Given the description of an element on the screen output the (x, y) to click on. 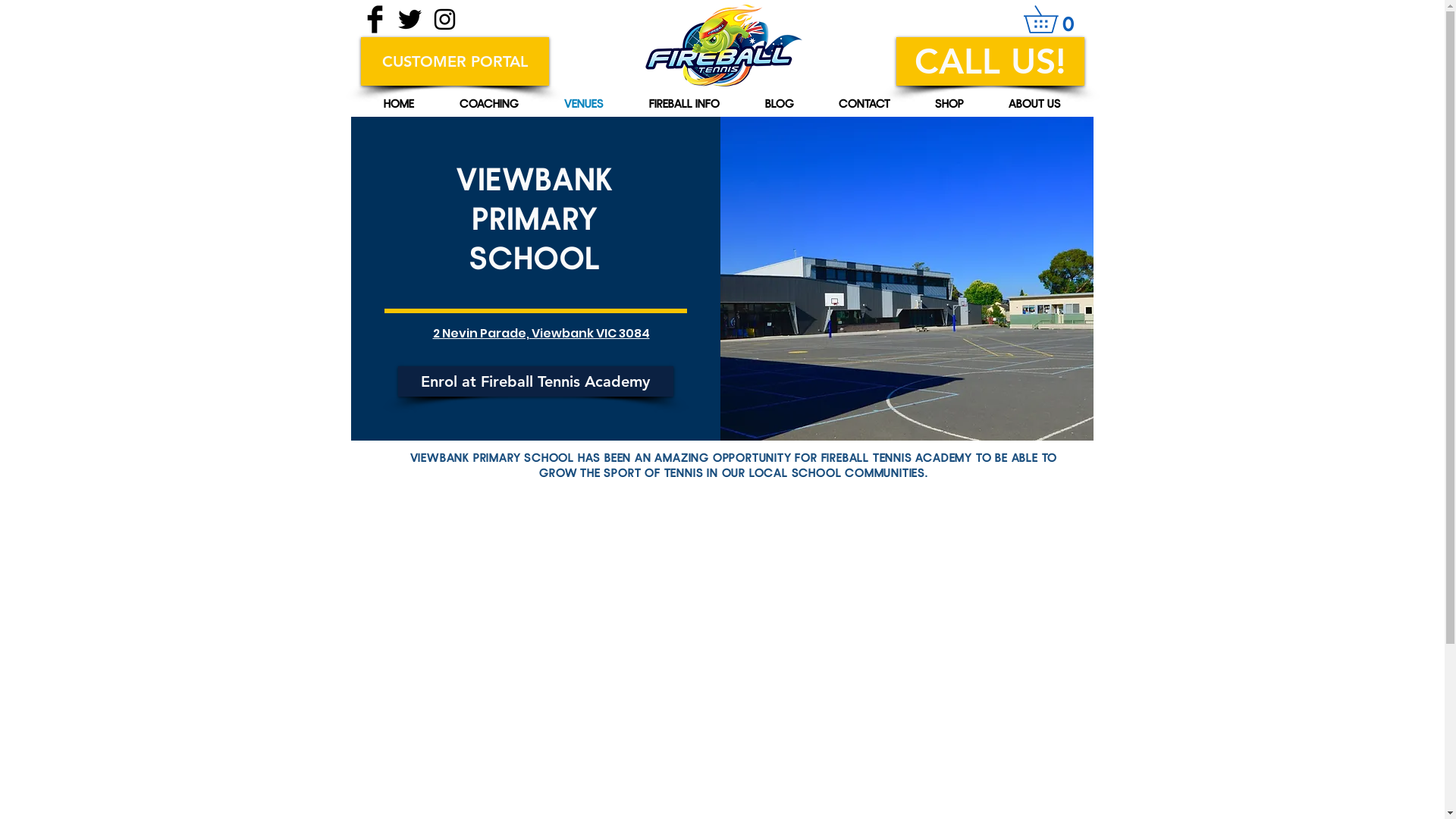
CONTACT Element type: text (863, 102)
VENUES Element type: text (583, 102)
CALL US! Element type: text (990, 61)
BLOG Element type: text (778, 102)
CUSTOMER PORTAL Element type: text (454, 61)
0 Element type: text (1053, 19)
HOME Element type: text (398, 102)
Enrol at Fireball Tennis Academy Element type: text (534, 381)
SHOP Element type: text (949, 102)
2 Nevin Parade, Viewbank VIC 3084 Element type: text (540, 333)
Fireball Tennis Academy - Tennis Lessons Melbourne Element type: hover (722, 45)
ABOUT US Element type: text (1033, 102)
COACHING Element type: text (488, 102)
FIREBALL INFO Element type: text (684, 102)
